Given the description of an element on the screen output the (x, y) to click on. 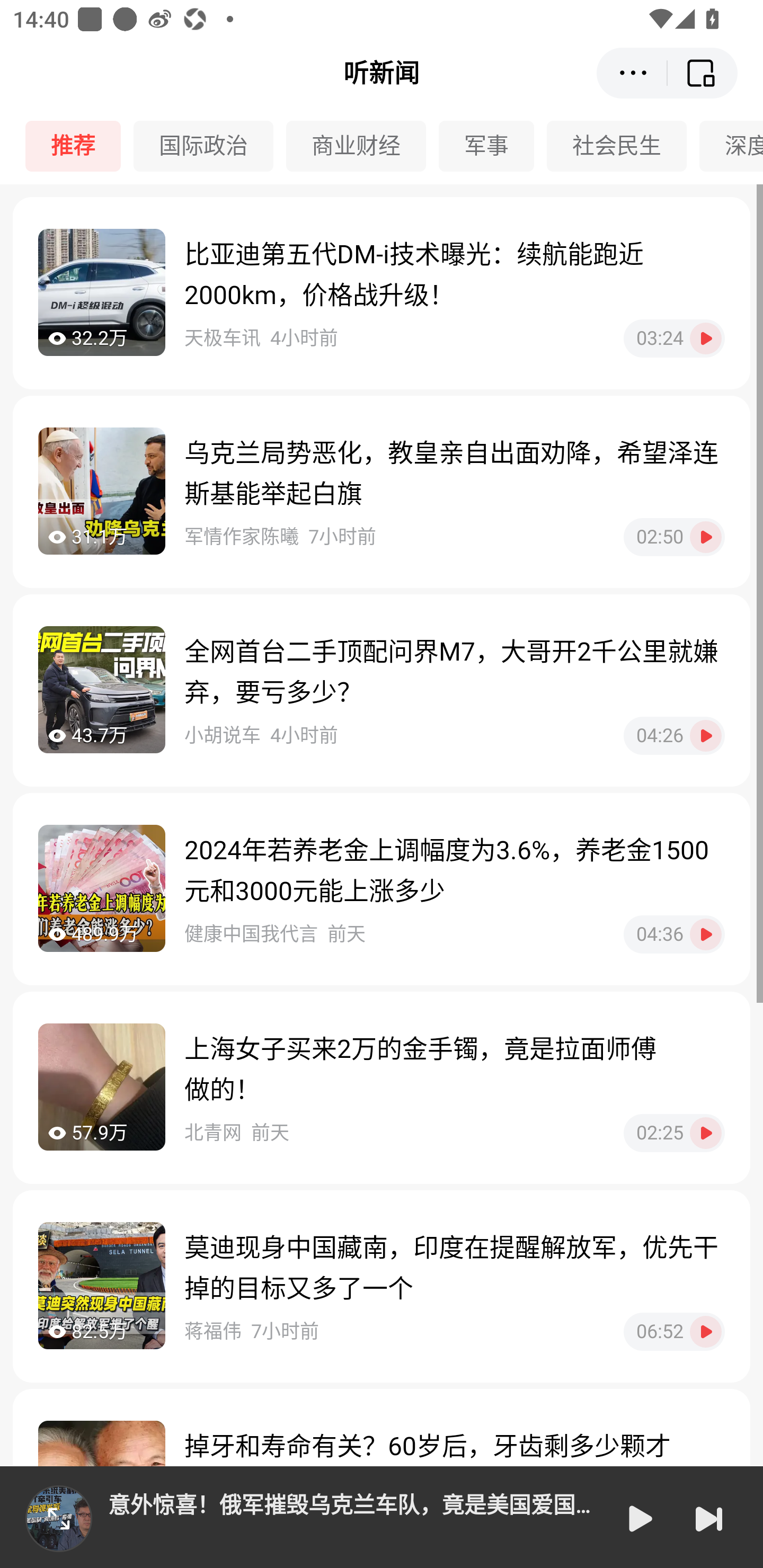
更多 (631, 72)
返回 (702, 72)
推荐 (79, 146)
国际政治 (209, 146)
商业财经 (362, 146)
军事 (492, 146)
社会民生 (623, 146)
03:24 (673, 338)
02:50 (673, 536)
43.7万 全网首台二手顶配问界M7，大哥开2千公里就嫌弃，要亏多少？ 小胡说车4小时前 04:26 (381, 690)
04:26 (673, 735)
04:36 (673, 934)
57.9万 上海女子买来2万的金手镯，竟是拉面师傅
做的！ 北青网前天 02:25 (381, 1086)
02:25 (673, 1132)
82.5万 莫迪现身中国藏南，印度在提醒解放军，优先干掉的目标又多了一个 蒋福伟7小时前 06:52 (381, 1286)
06:52 (673, 1331)
音频播放页 意外惊喜！俄军摧毁乌克兰车队，竟是美国爱国者防空导弹 播放 下一篇 (381, 1517)
播放 (638, 1518)
下一篇 (708, 1518)
